Given the description of an element on the screen output the (x, y) to click on. 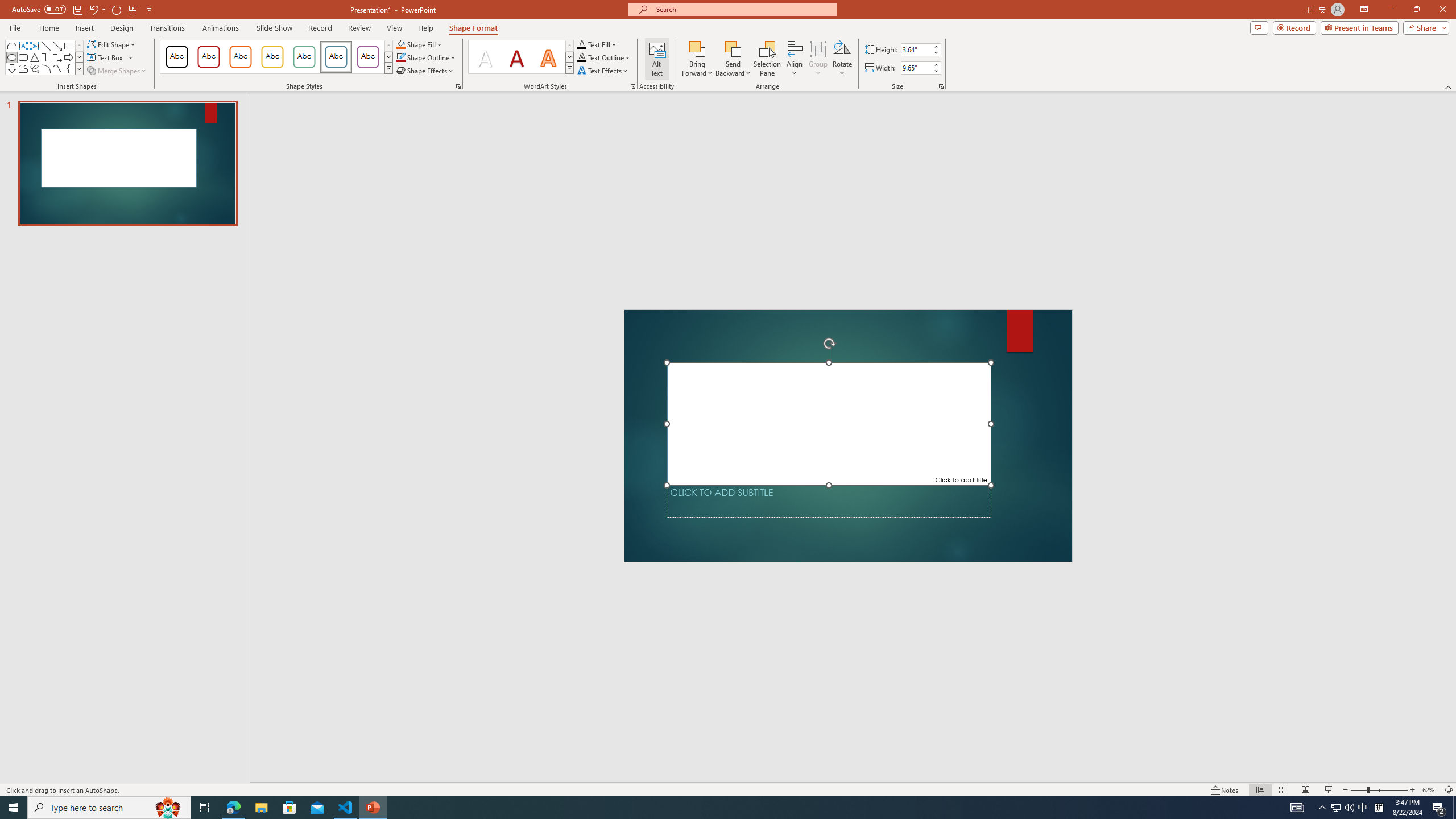
Text Fill RGB(0, 0, 0) (581, 44)
Fill: Dark Red, Accent color 1; Shadow (516, 56)
Text Fill (596, 44)
Shape Format (473, 28)
Line Arrow (57, 45)
Shape Fill (419, 44)
Send Backward (733, 58)
